Given the description of an element on the screen output the (x, y) to click on. 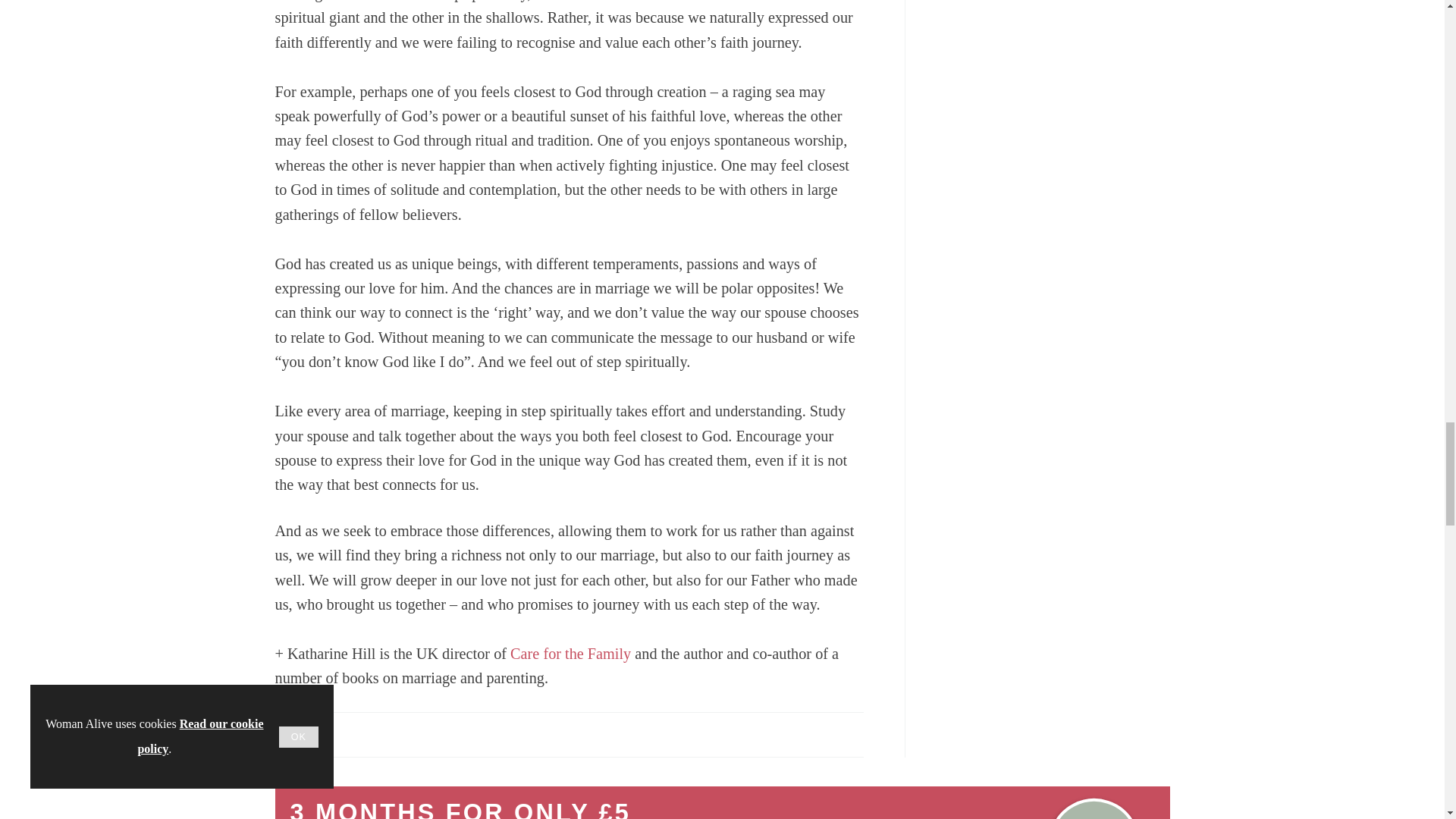
Email this article (386, 733)
Share this on Facebook (288, 733)
Share this on Twitter (320, 733)
Share this on Linked in (352, 733)
